Given the description of an element on the screen output the (x, y) to click on. 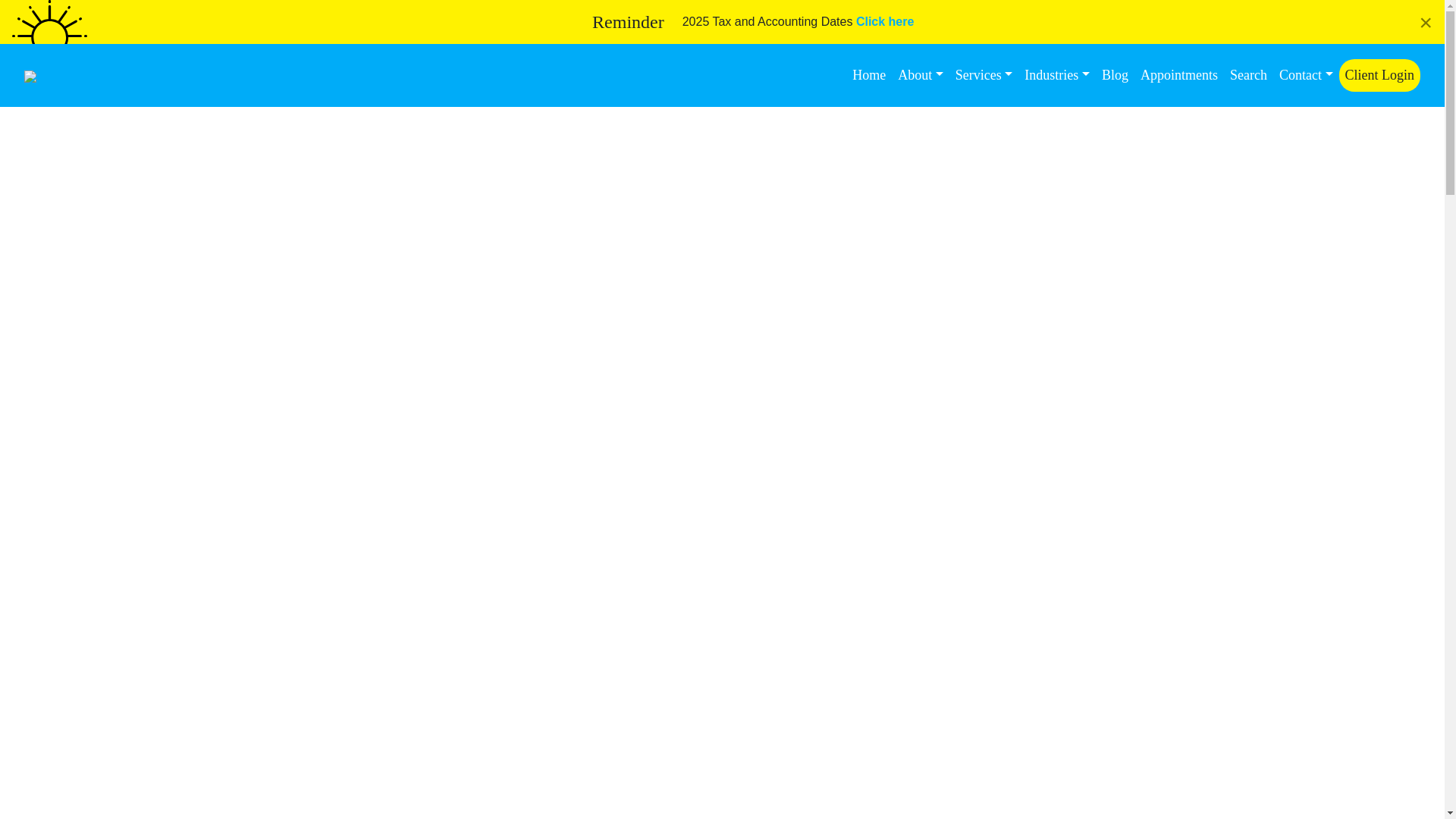
About (920, 74)
Home (868, 74)
Client Login (1380, 74)
Appointments (1179, 74)
Blog (1115, 74)
Services (984, 74)
Home (868, 74)
Contact (1305, 74)
Click here (885, 21)
About (920, 74)
Services (984, 74)
Search (1248, 74)
Industries (1056, 74)
